Given the description of an element on the screen output the (x, y) to click on. 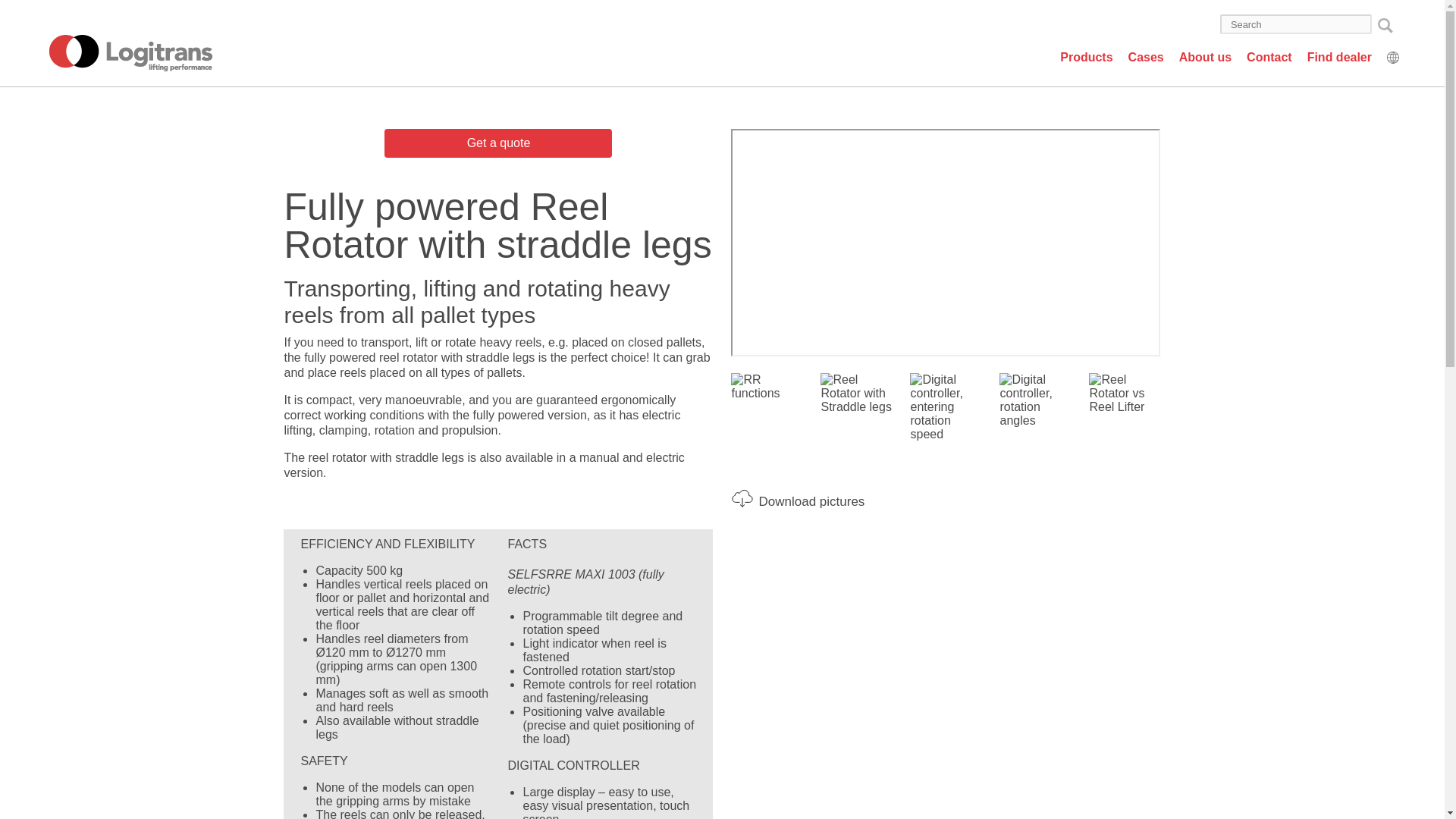
About us (1197, 56)
Cases (1138, 56)
Products (1078, 56)
Find dealer (1331, 56)
Contact (1261, 56)
Get a quote (497, 143)
